Given the description of an element on the screen output the (x, y) to click on. 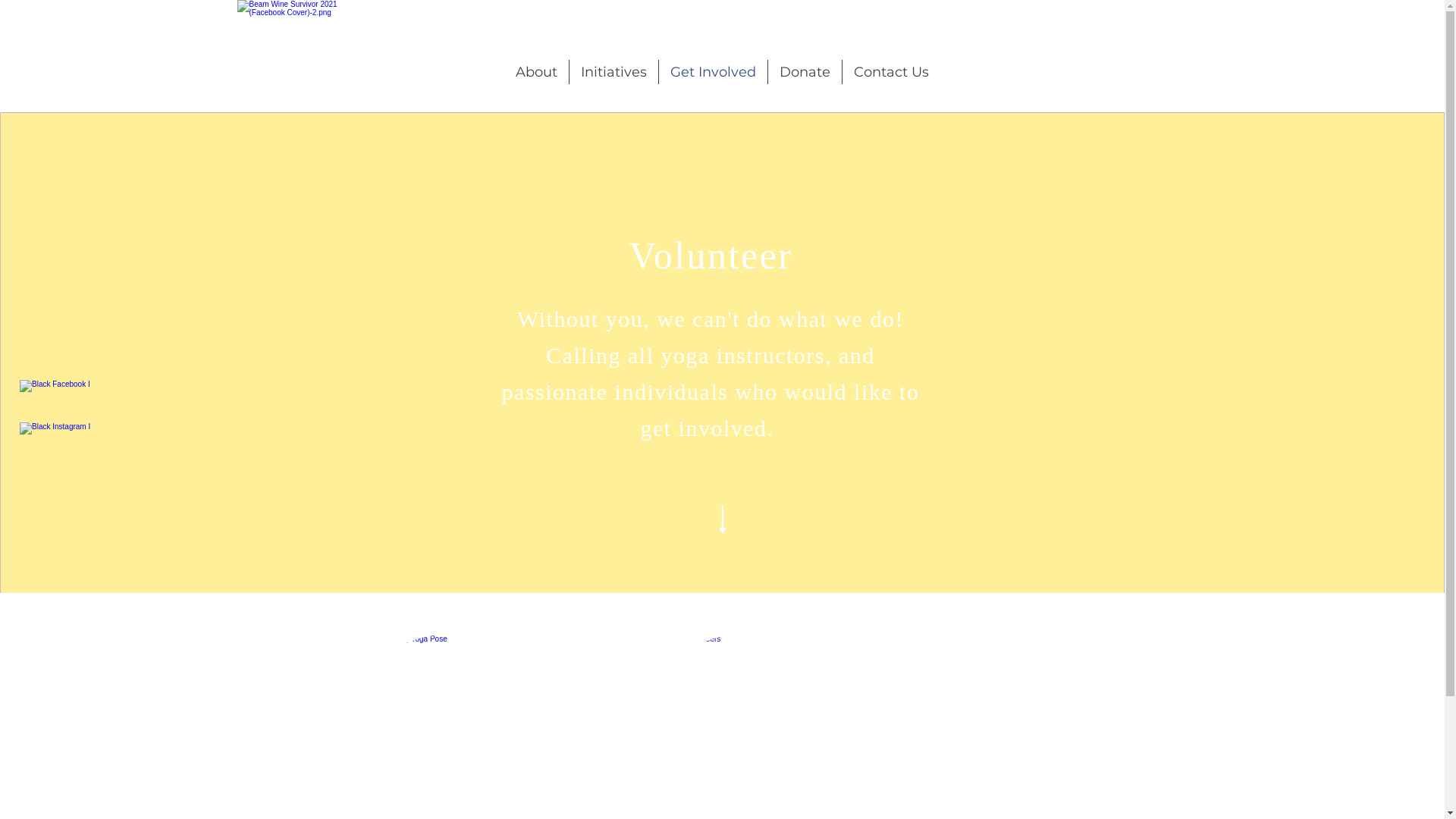
Donate Element type: text (804, 71)
About Element type: text (536, 71)
Get Involved Element type: text (712, 71)
Contact Us Element type: text (891, 71)
Initiatives Element type: text (613, 71)
